Given the description of an element on the screen output the (x, y) to click on. 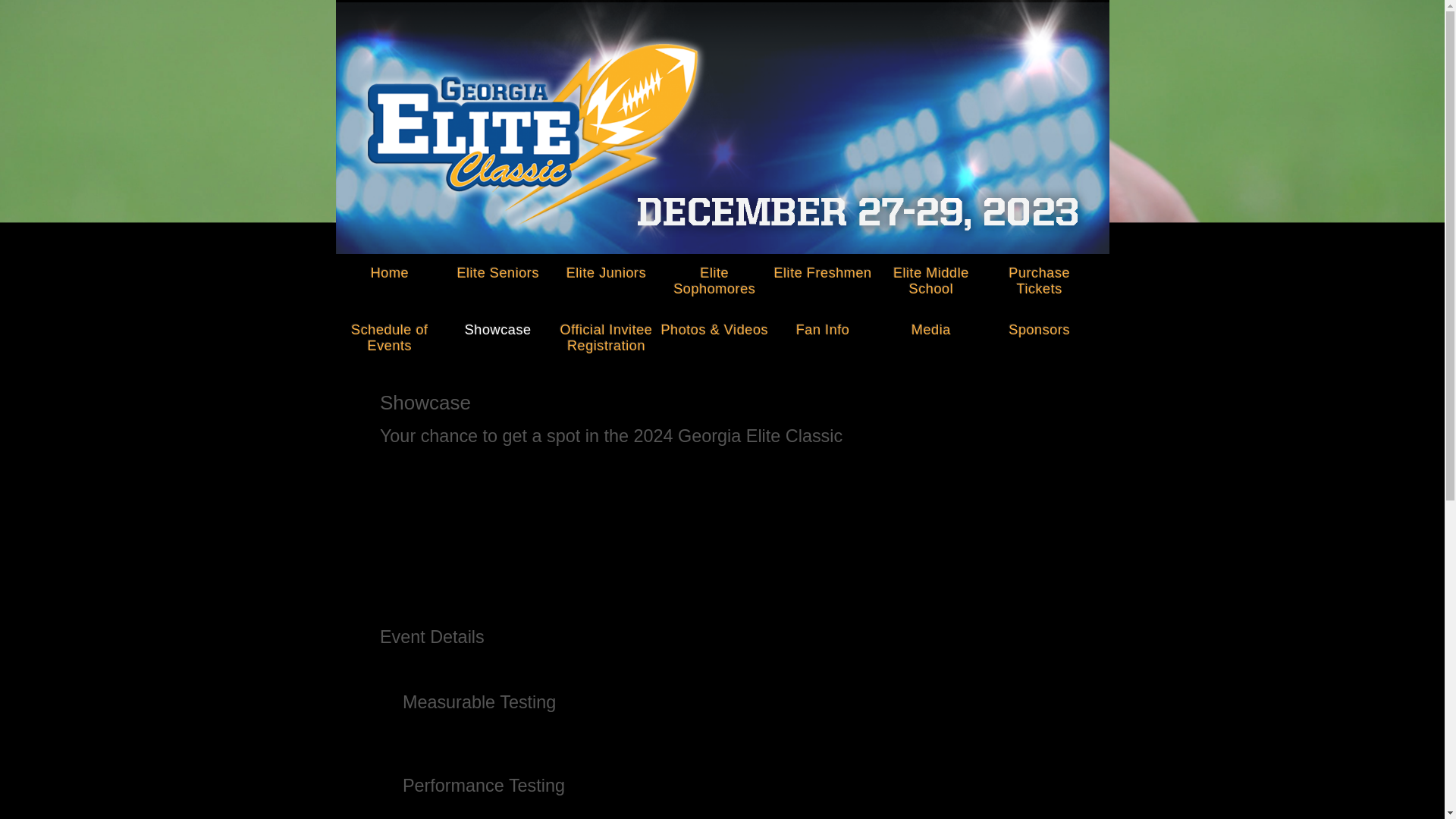
Skip to content (383, 268)
Showcase (497, 325)
Home (389, 268)
Official Invitee Registration (606, 332)
Elite Middle School (930, 276)
Elite Sophomores (714, 276)
Elite Freshmen (822, 268)
Skip to content (383, 268)
Purchase Tickets (1039, 276)
Elite Juniors (606, 268)
